Given the description of an element on the screen output the (x, y) to click on. 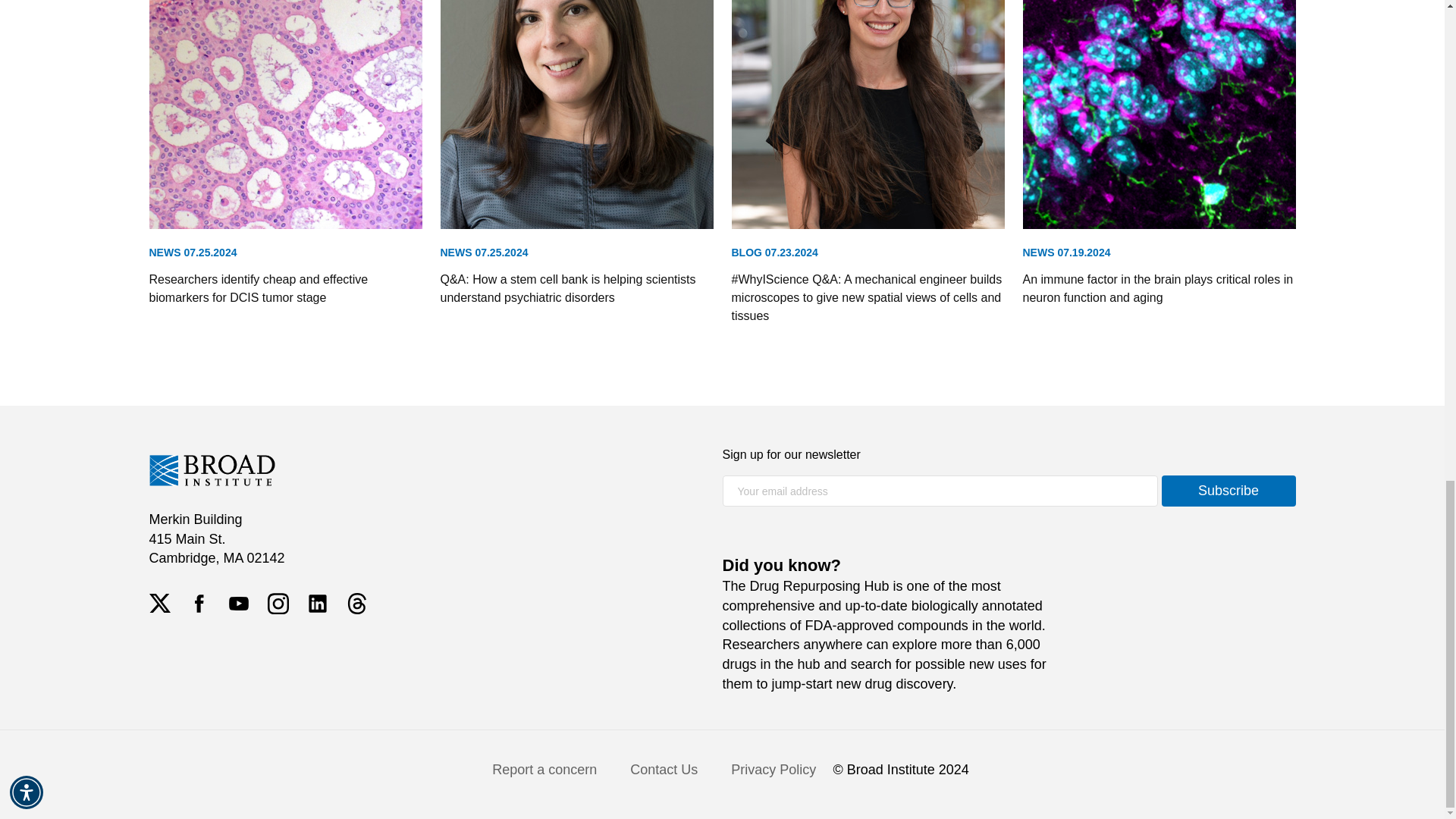
Subscribe (1228, 490)
